Given the description of an element on the screen output the (x, y) to click on. 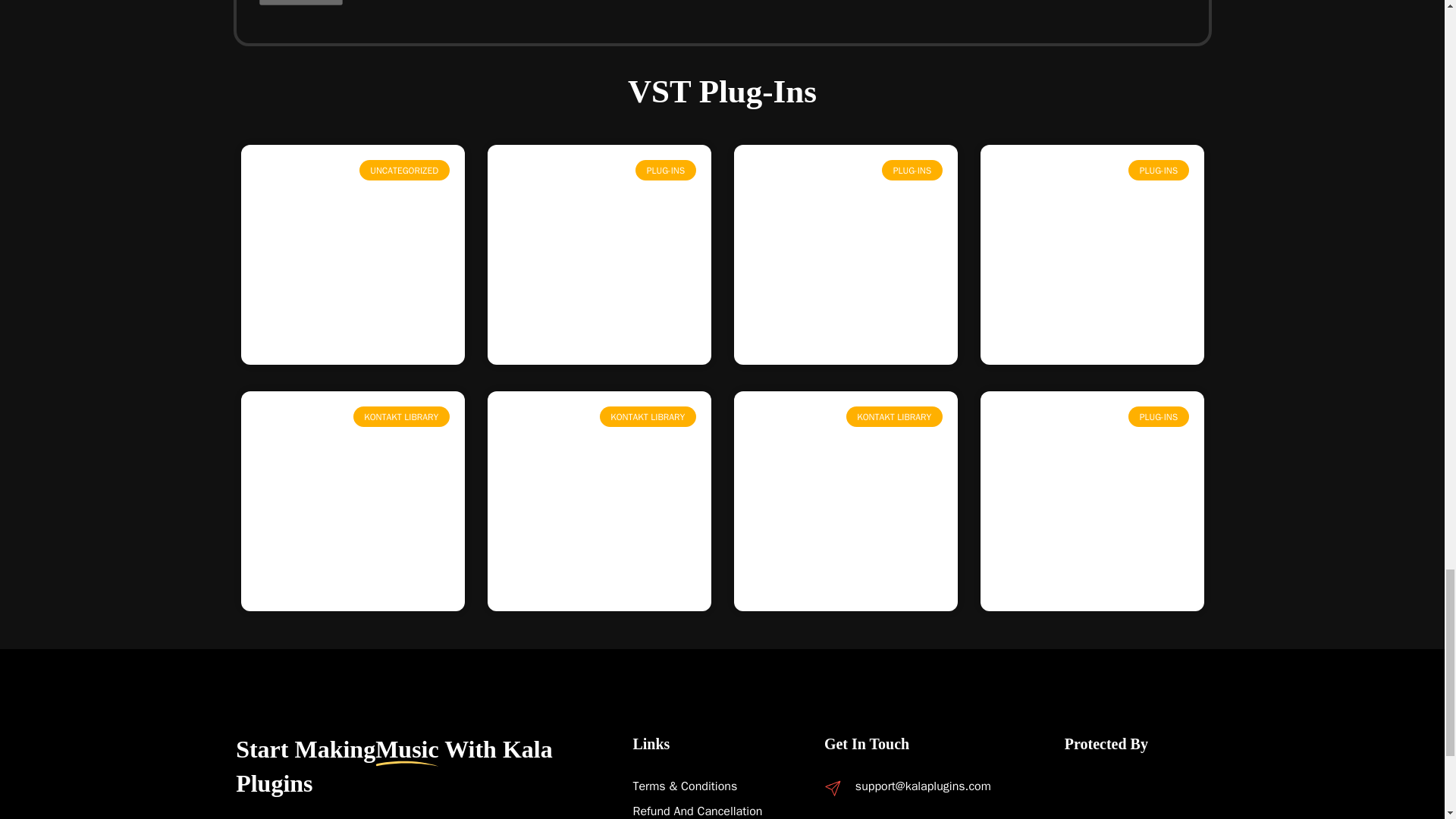
Post Comment (301, 2)
Post Comment (301, 2)
